Given the description of an element on the screen output the (x, y) to click on. 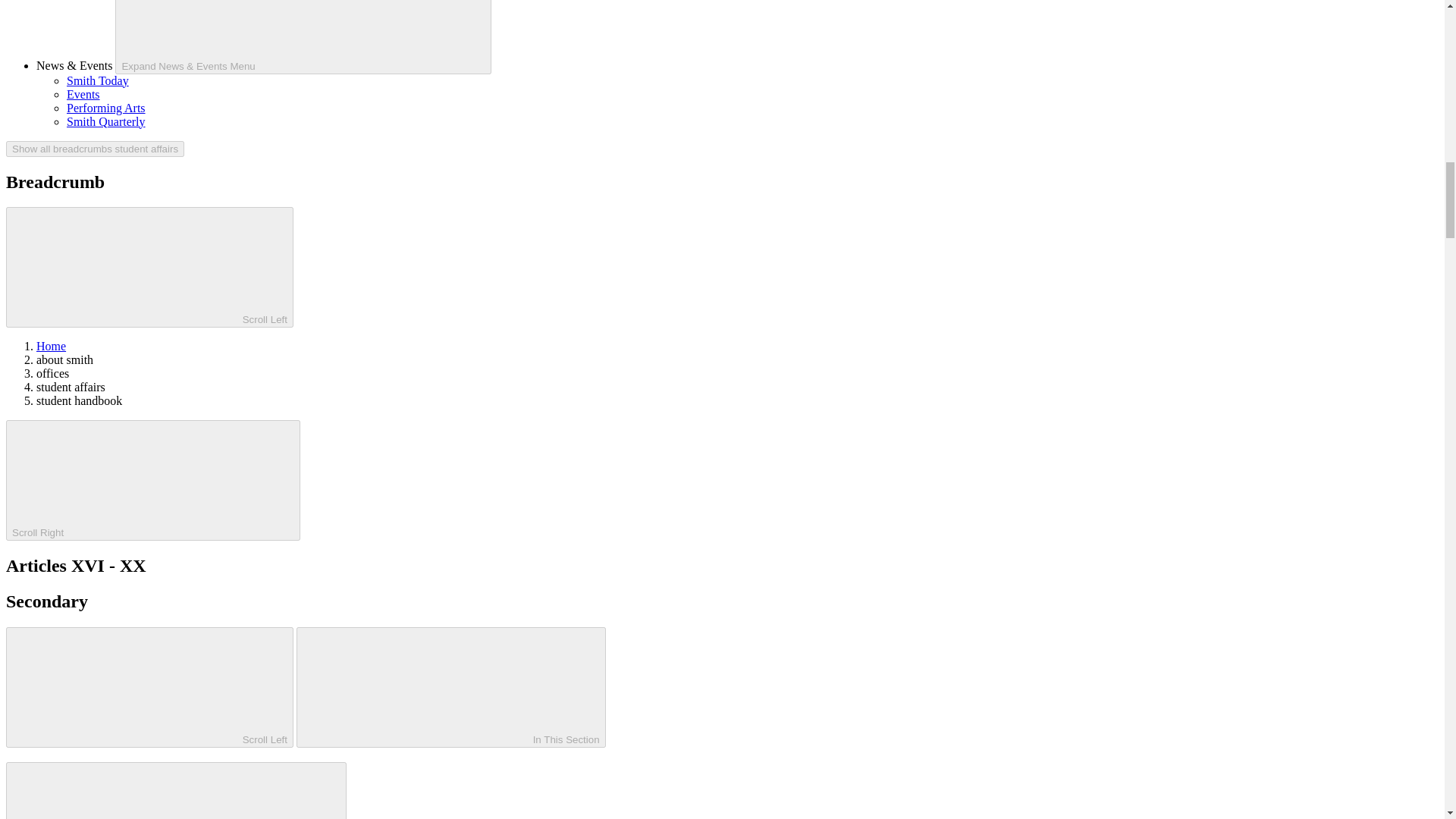
Scroll Left (149, 267)
Scroll Right (152, 480)
Scroll Left (149, 687)
